Given the description of an element on the screen output the (x, y) to click on. 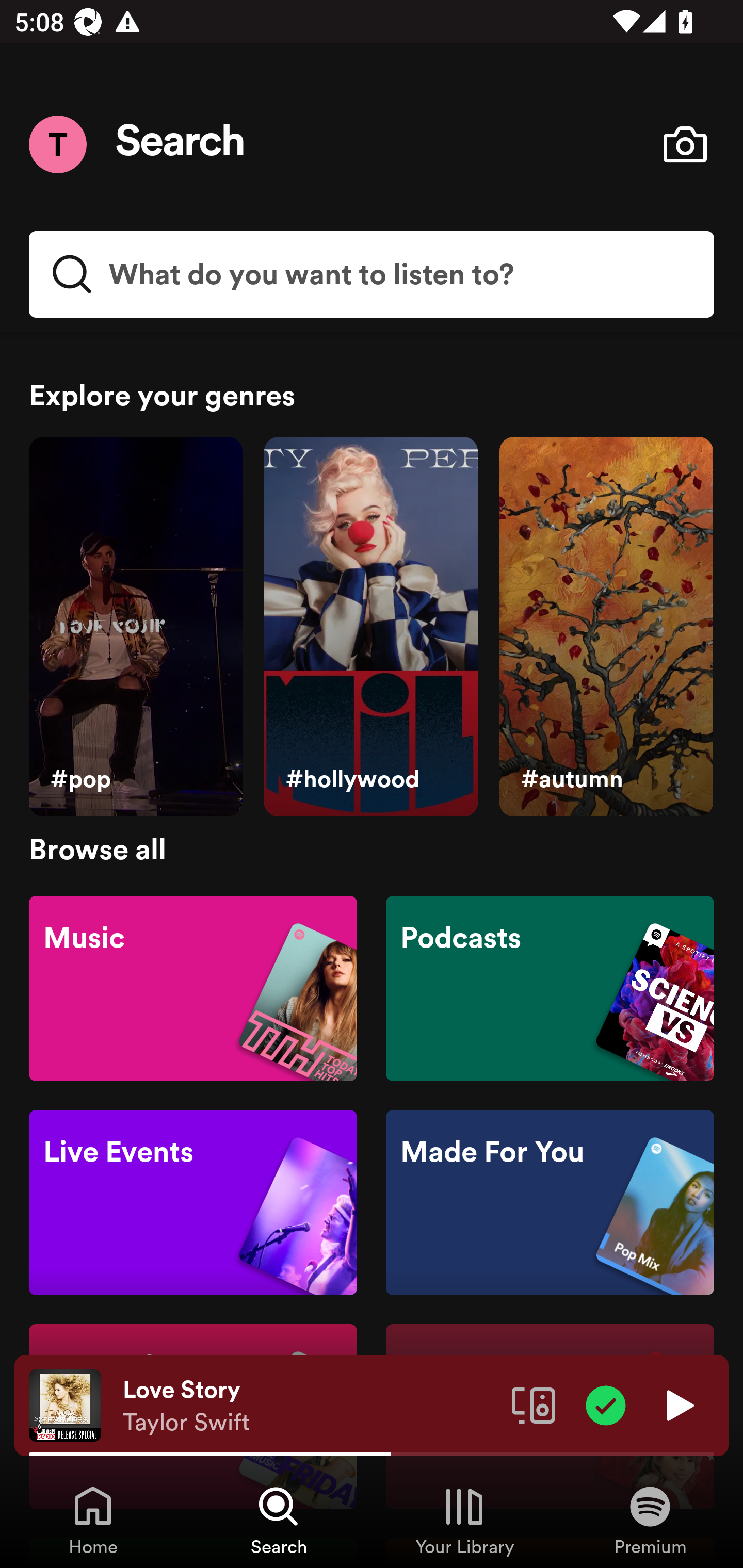
Menu (57, 144)
Open camera (685, 145)
Search (180, 144)
#pop (135, 626)
#hollywood (370, 626)
#autumn (606, 626)
Music (192, 987)
Podcasts (549, 987)
Live Events (192, 1202)
Made For You (549, 1202)
Love Story Taylor Swift (309, 1405)
The cover art of the currently playing track (64, 1404)
Connect to a device. Opens the devices menu (533, 1404)
Item added (605, 1404)
Play (677, 1404)
Home, Tab 1 of 4 Home Home (92, 1519)
Search, Tab 2 of 4 Search Search (278, 1519)
Your Library, Tab 3 of 4 Your Library Your Library (464, 1519)
Premium, Tab 4 of 4 Premium Premium (650, 1519)
